Given the description of an element on the screen output the (x, y) to click on. 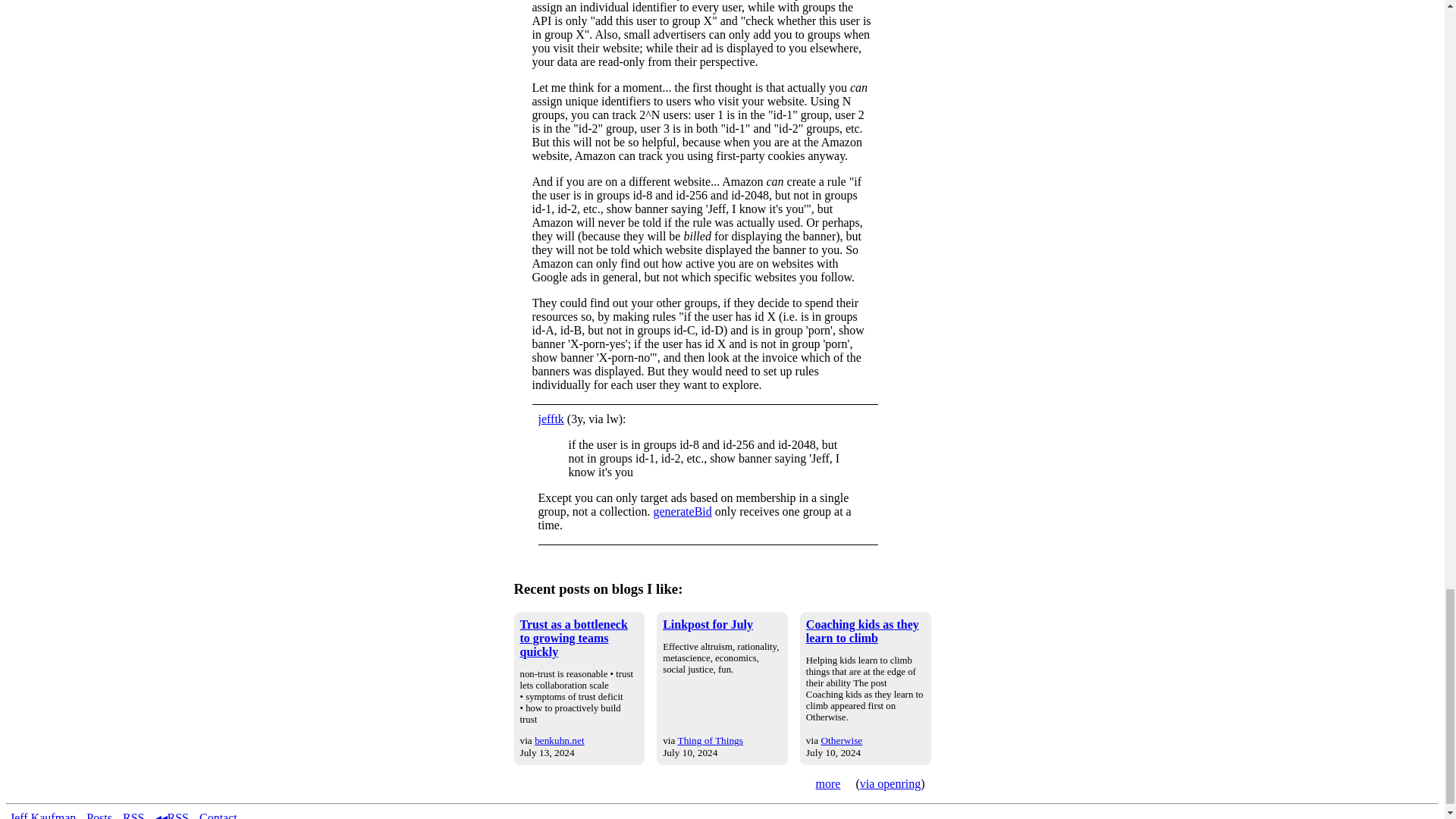
Thing of Things (710, 740)
Linkpost for July (707, 624)
generateBid (681, 511)
Trust as a bottleneck to growing teams quickly (573, 638)
benkuhn.net (559, 740)
jefftk (551, 418)
